Given the description of an element on the screen output the (x, y) to click on. 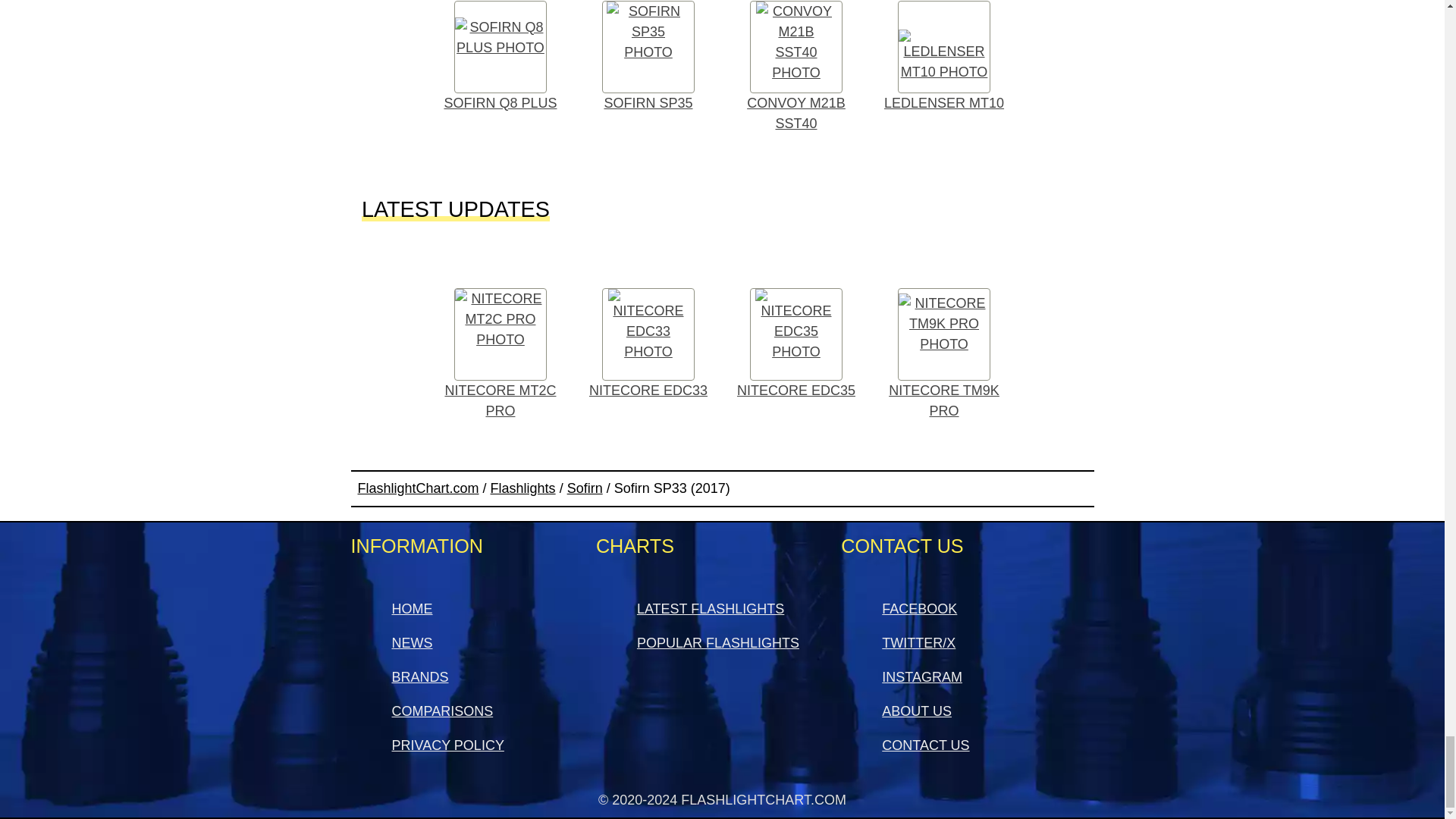
SOFIRN SP35 (648, 60)
SOFIRN Q8 PLUS (500, 60)
POPULAR FLASHLIGHTS (718, 642)
LATEST FLASHLIGHTS (710, 608)
CONTACT US (925, 744)
INSTAGRAM (922, 676)
NITECORE MT2C PRO (500, 354)
PRIVACY POLICY (447, 744)
HOME (411, 608)
FlashlightChart.com (418, 488)
ABOUT US (917, 711)
BRANDS (419, 676)
LEDLENSER MT10 (944, 60)
NITECORE EDC33 (648, 344)
CONVOY M21B SST40 (795, 70)
